Given the description of an element on the screen output the (x, y) to click on. 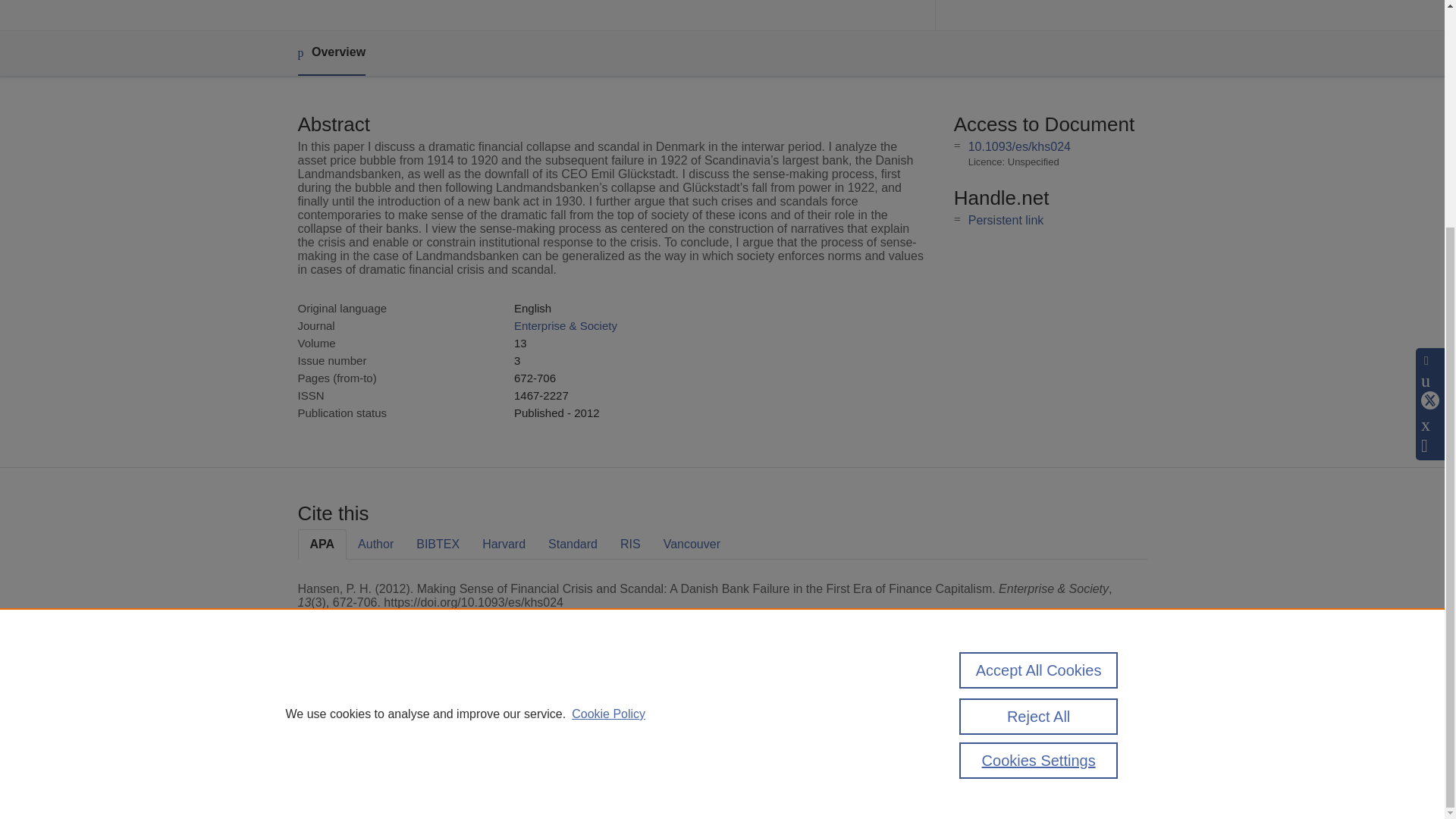
Overview (331, 53)
About web accessibility (1002, 740)
use of cookies (796, 760)
Cookies Settings (334, 781)
Cookie Policy (608, 408)
Persistent link (1005, 219)
Elsevier B.V. (506, 728)
Scopus (394, 708)
CBS Research Portal data protection policy (1009, 713)
Cookies Settings (1038, 454)
Contact us (1123, 713)
Report vulnerability (993, 760)
Reject All (1038, 411)
Pure (362, 708)
